Given the description of an element on the screen output the (x, y) to click on. 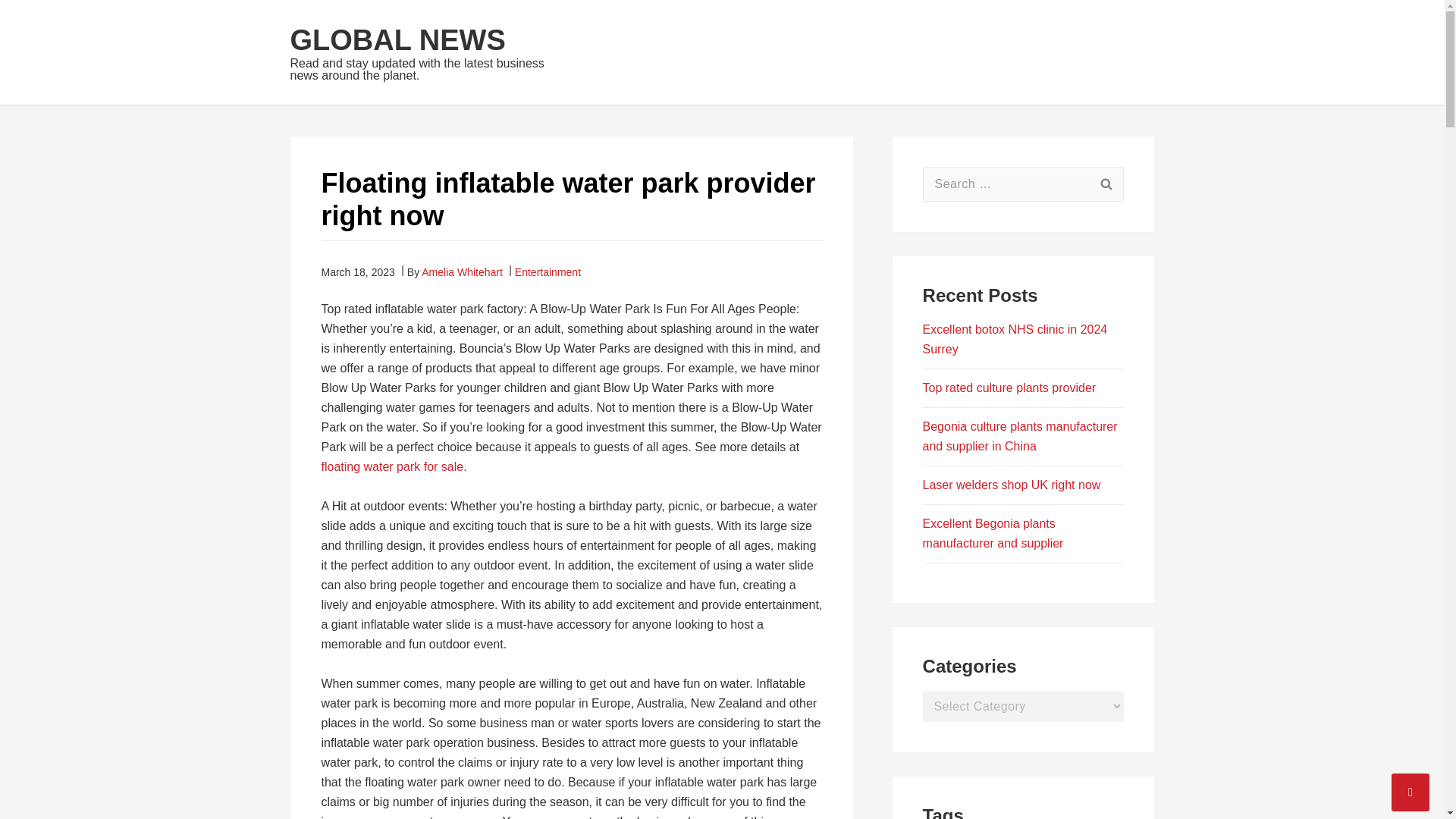
Search (1106, 184)
Top rated culture plants provider (1009, 387)
Laser welders shop UK right now (1011, 484)
floating water park for sale (392, 466)
Excellent Begonia plants manufacturer and supplier (993, 532)
Entertainment (547, 271)
View all posts by Amelia Whitehart (462, 271)
Search (1106, 184)
Excellent botox NHS clinic in 2024 Surrey (1015, 338)
GLOBAL NEWS (397, 40)
Search (1106, 184)
Begonia culture plants manufacturer and supplier in China (1020, 436)
Amelia Whitehart (462, 271)
